Given the description of an element on the screen output the (x, y) to click on. 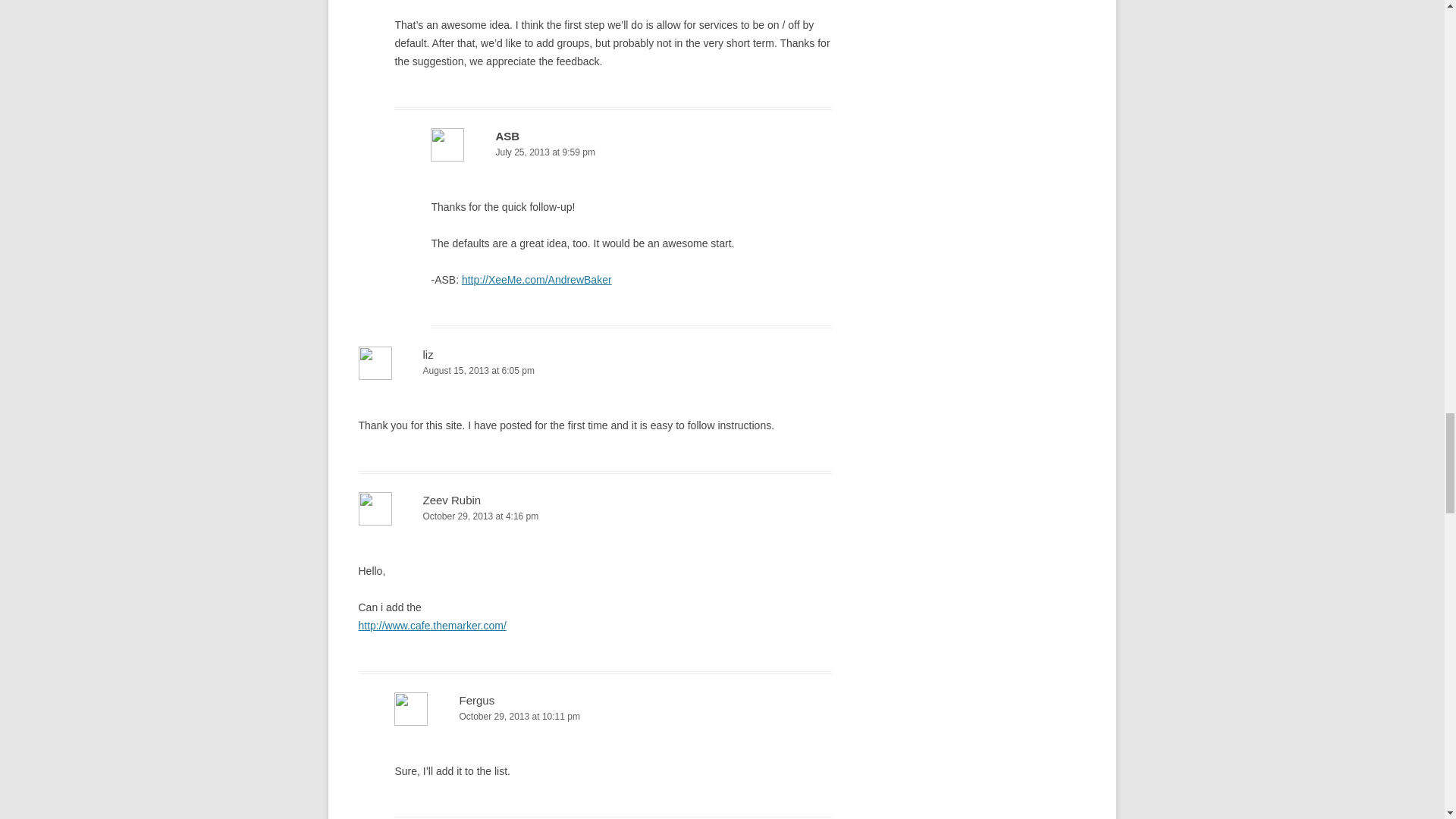
July 25, 2013 at 9:59 pm (630, 152)
ASB (507, 135)
August 15, 2013 at 6:05 pm (594, 371)
